Given the description of an element on the screen output the (x, y) to click on. 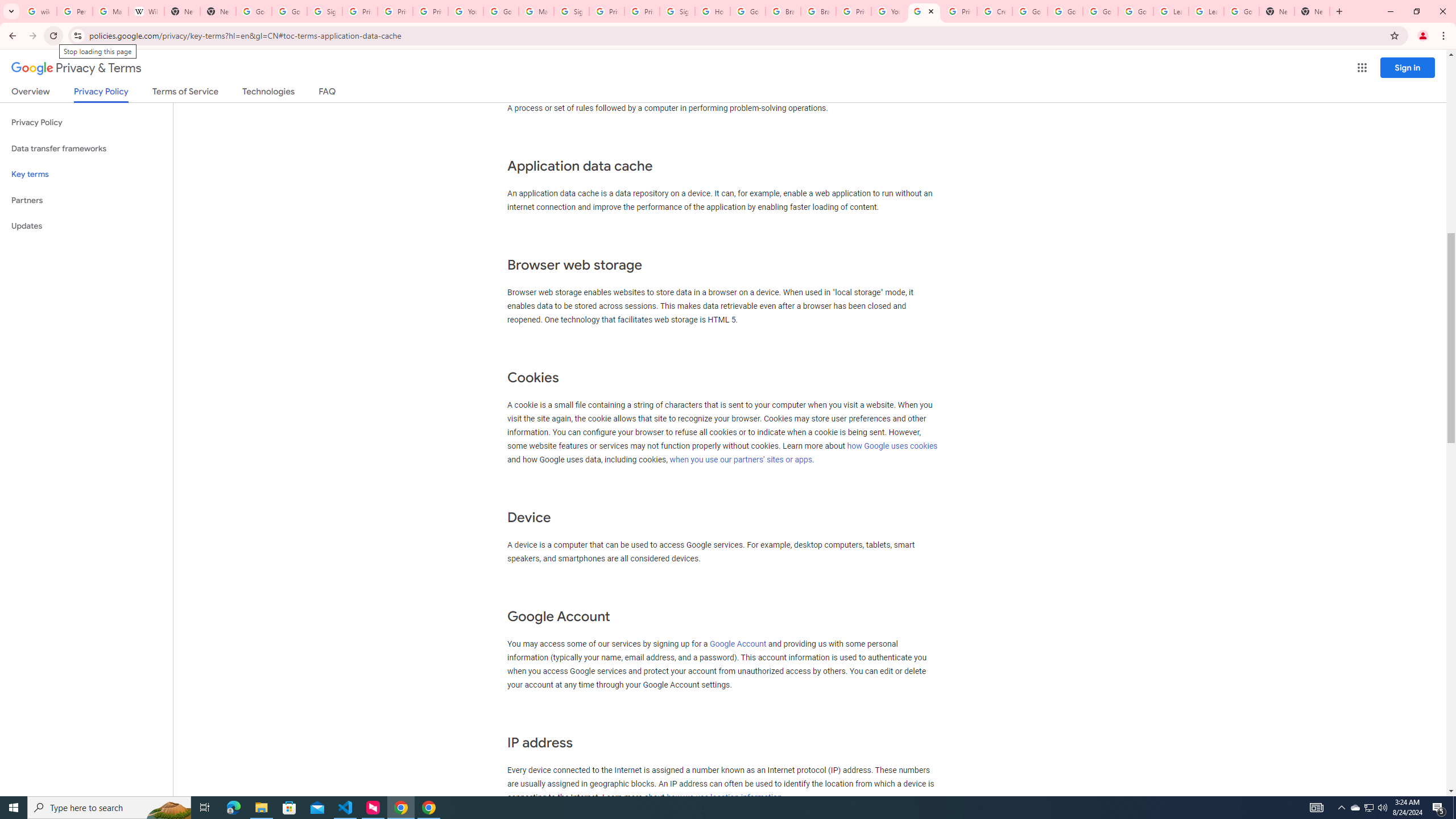
New Tab (218, 11)
Google Account Help (1029, 11)
Create your Google Account (994, 11)
Manage your Location History - Google Search Help (110, 11)
Google Drive: Sign-in (288, 11)
